Given the description of an element on the screen output the (x, y) to click on. 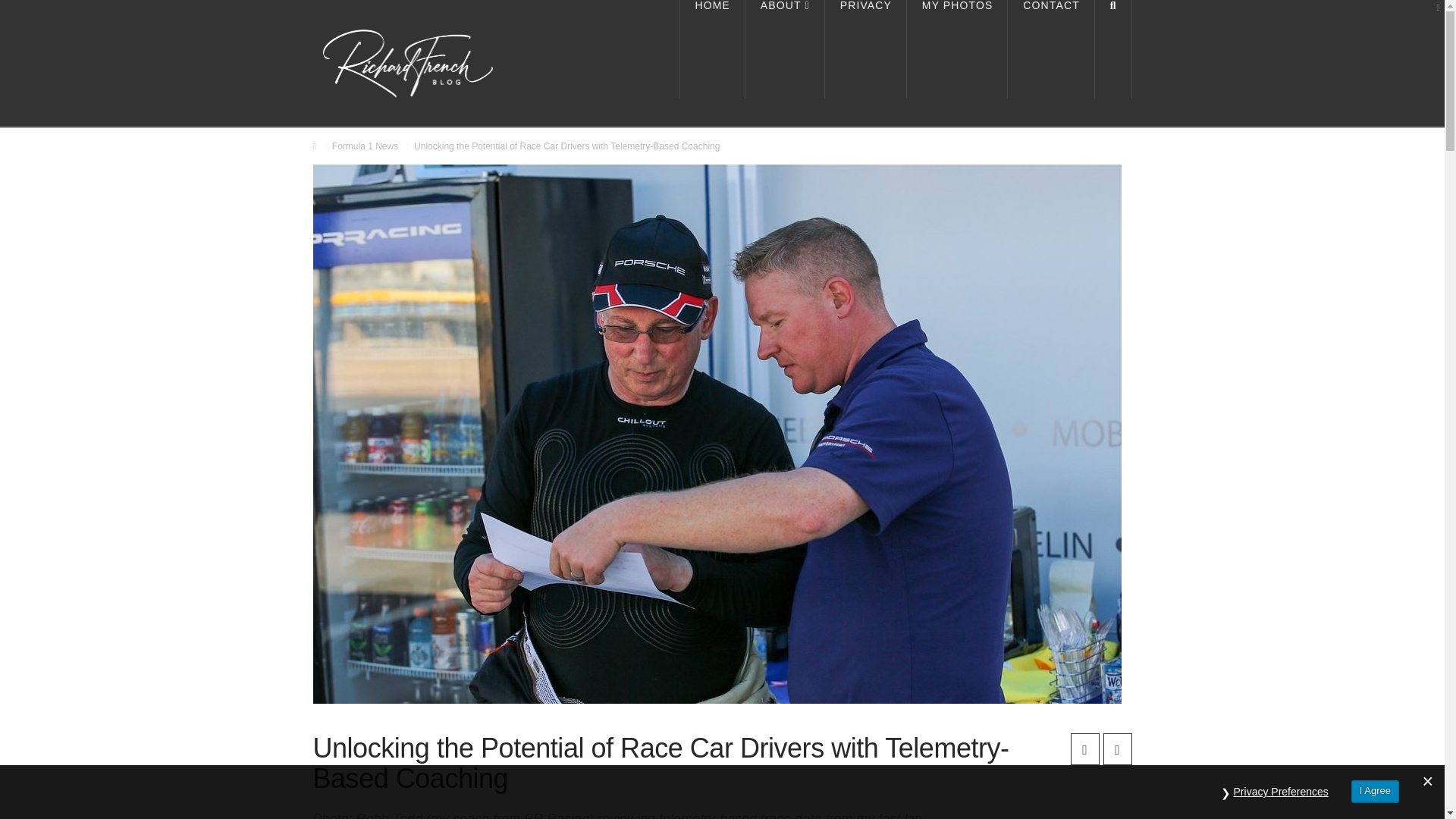
You Are Here (566, 146)
Formula 1 News (364, 146)
MY PHOTOS (957, 49)
